Given the description of an element on the screen output the (x, y) to click on. 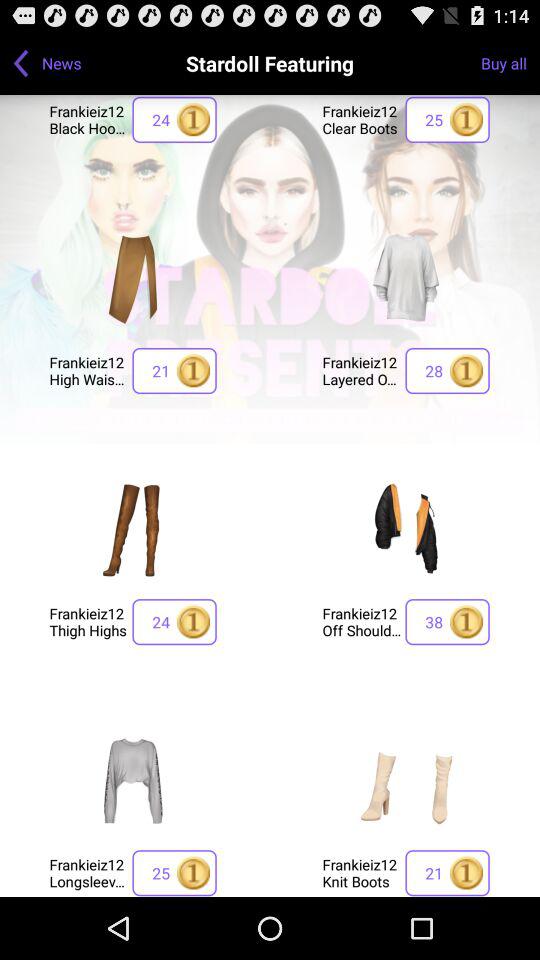
select item icon (406, 277)
